Given the description of an element on the screen output the (x, y) to click on. 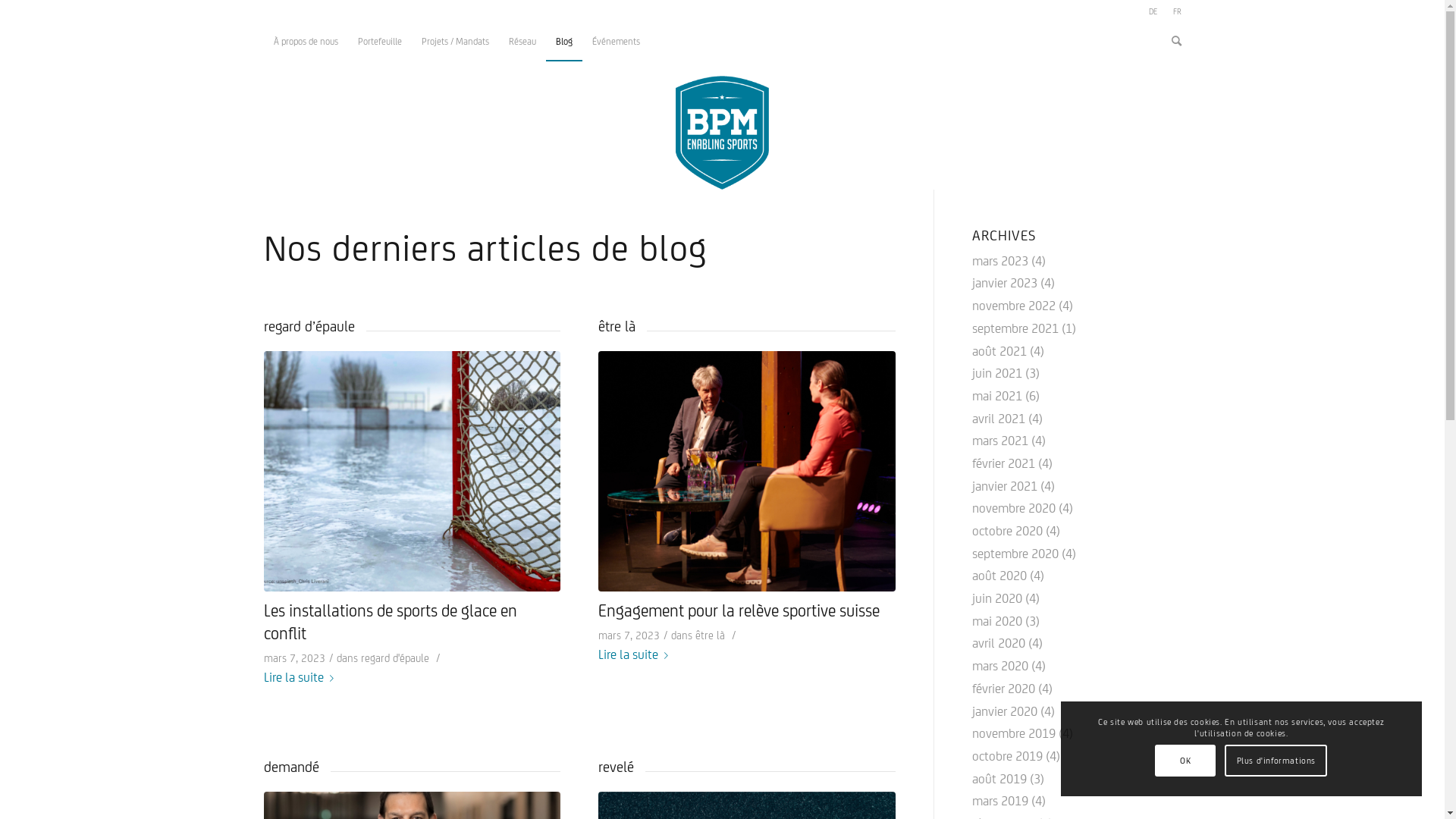
juin 2021 Element type: text (997, 372)
23003_0169_sRGB_2500px Element type: hover (746, 470)
octobre 2020 Element type: text (1007, 530)
septembre 2021 Element type: text (1015, 327)
FR Element type: text (1176, 11)
octobre 2019 Element type: text (1007, 755)
Projets / Mandats Element type: text (454, 41)
novembre 2019 Element type: text (1013, 732)
mai 2021 Element type: text (997, 395)
Les installations de sports de glace en conflit Element type: text (390, 621)
offene Eisanlage Element type: hover (412, 470)
mars 2021 Element type: text (1000, 440)
novembre 2020 Element type: text (1013, 507)
janvier 2020 Element type: text (1004, 710)
Lire la suite Element type: text (301, 677)
DE Element type: text (1152, 11)
OK Element type: text (1184, 760)
mars 2023 Element type: text (1000, 260)
mai 2020 Element type: text (997, 620)
janvier 2023 Element type: text (1004, 282)
Lire la suite Element type: text (636, 654)
mars 2019 Element type: text (1000, 800)
avril 2020 Element type: text (998, 642)
avril 2021 Element type: text (998, 418)
juin 2020 Element type: text (997, 597)
Portefeuille Element type: text (379, 41)
janvier 2021 Element type: text (1004, 485)
Blog Element type: text (564, 41)
mars 2020 Element type: text (1000, 665)
septembre 2020 Element type: text (1015, 553)
novembre 2022 Element type: text (1013, 305)
Plus d'informations Element type: text (1275, 760)
